Given the description of an element on the screen output the (x, y) to click on. 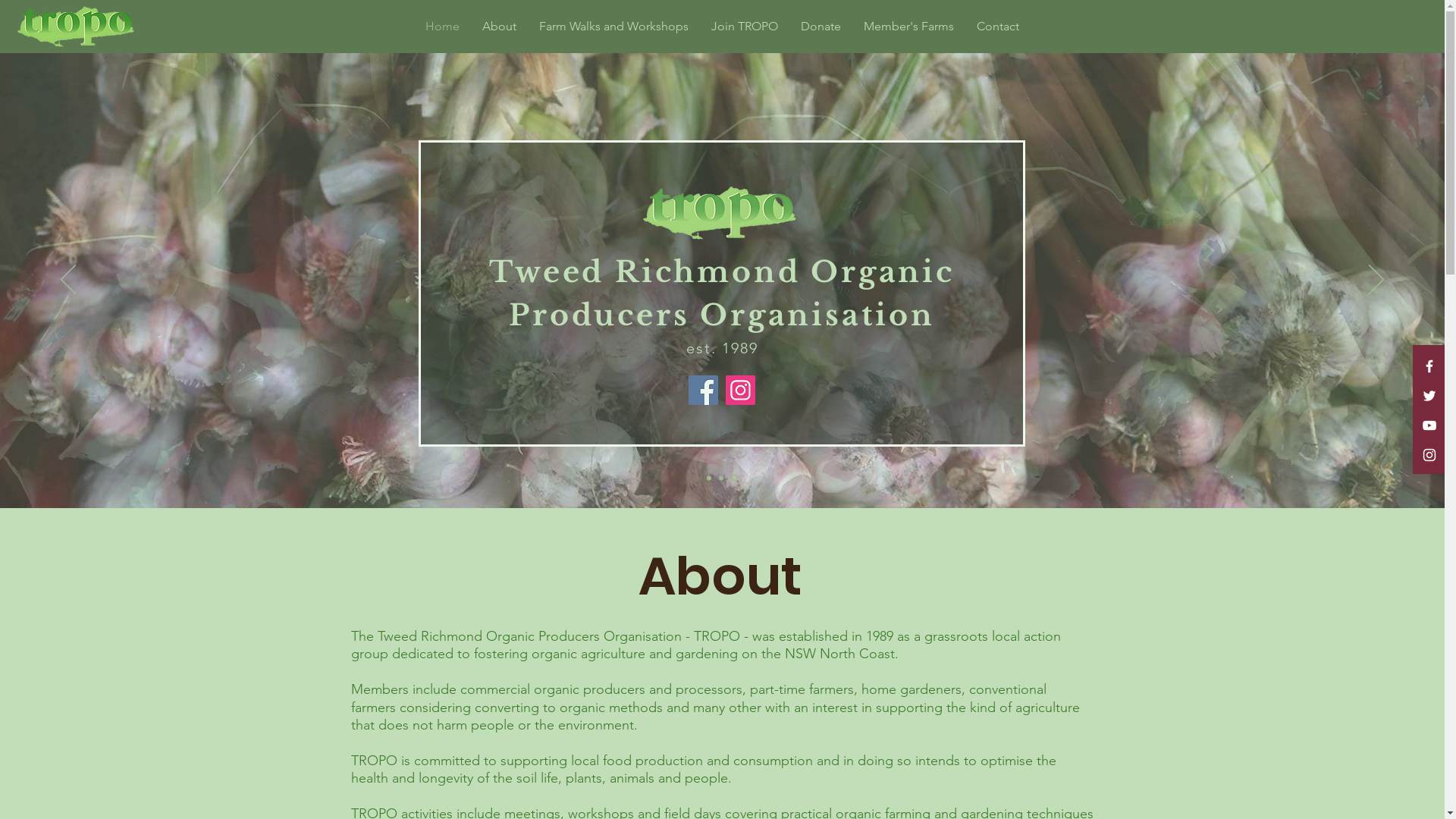
Farm Walks and Workshops Element type: text (613, 26)
Contact Element type: text (997, 26)
About Element type: text (498, 26)
Member's Farms Element type: text (908, 26)
Donate Element type: text (820, 26)
Join TROPO Element type: text (744, 26)
Home Element type: text (442, 26)
